Given the description of an element on the screen output the (x, y) to click on. 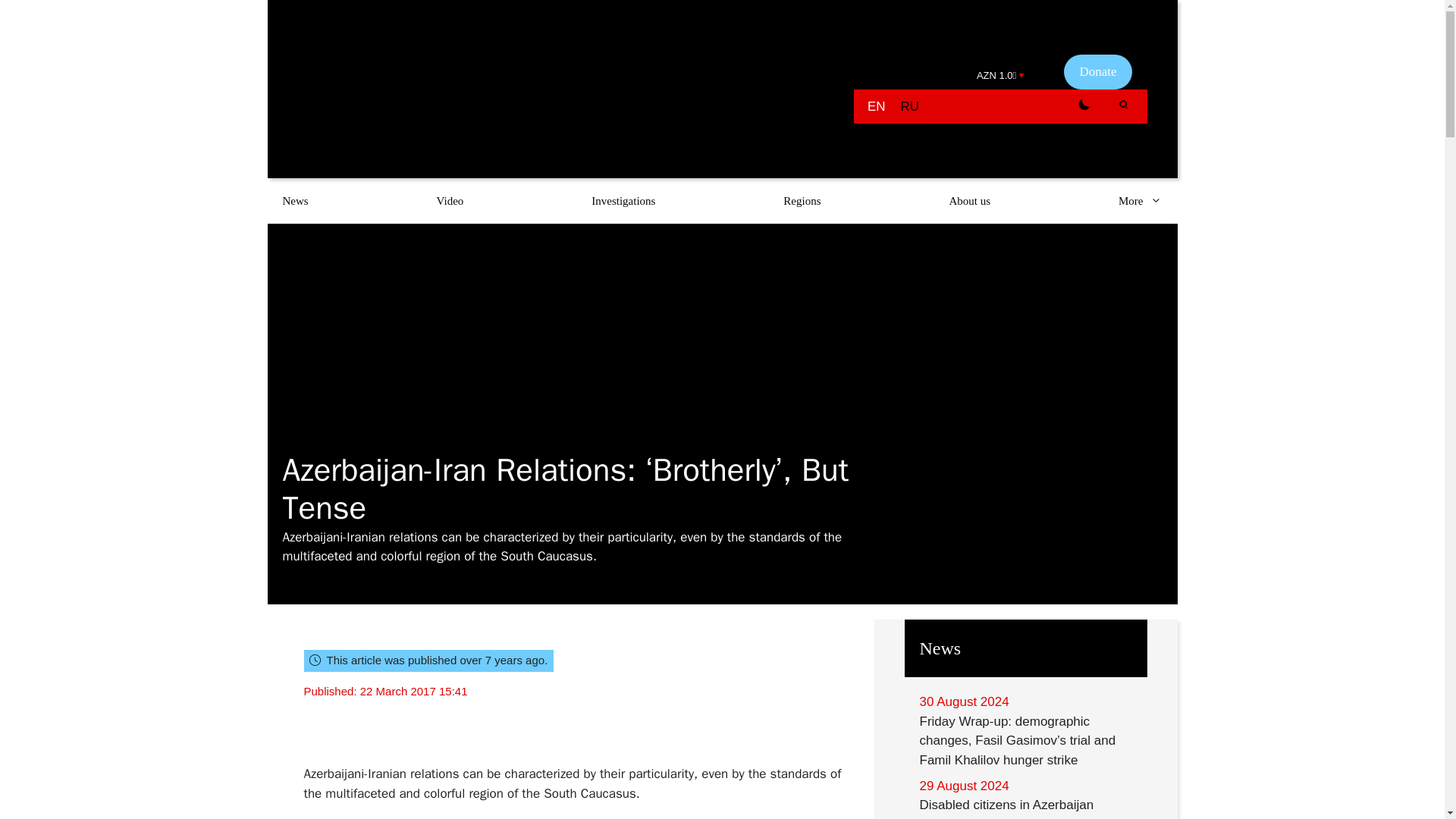
Regions (801, 200)
About us (969, 200)
Video (450, 200)
News (294, 200)
More (1140, 200)
RU (910, 106)
Donate (1097, 71)
EN (876, 106)
Investigations (622, 200)
